Given the description of an element on the screen output the (x, y) to click on. 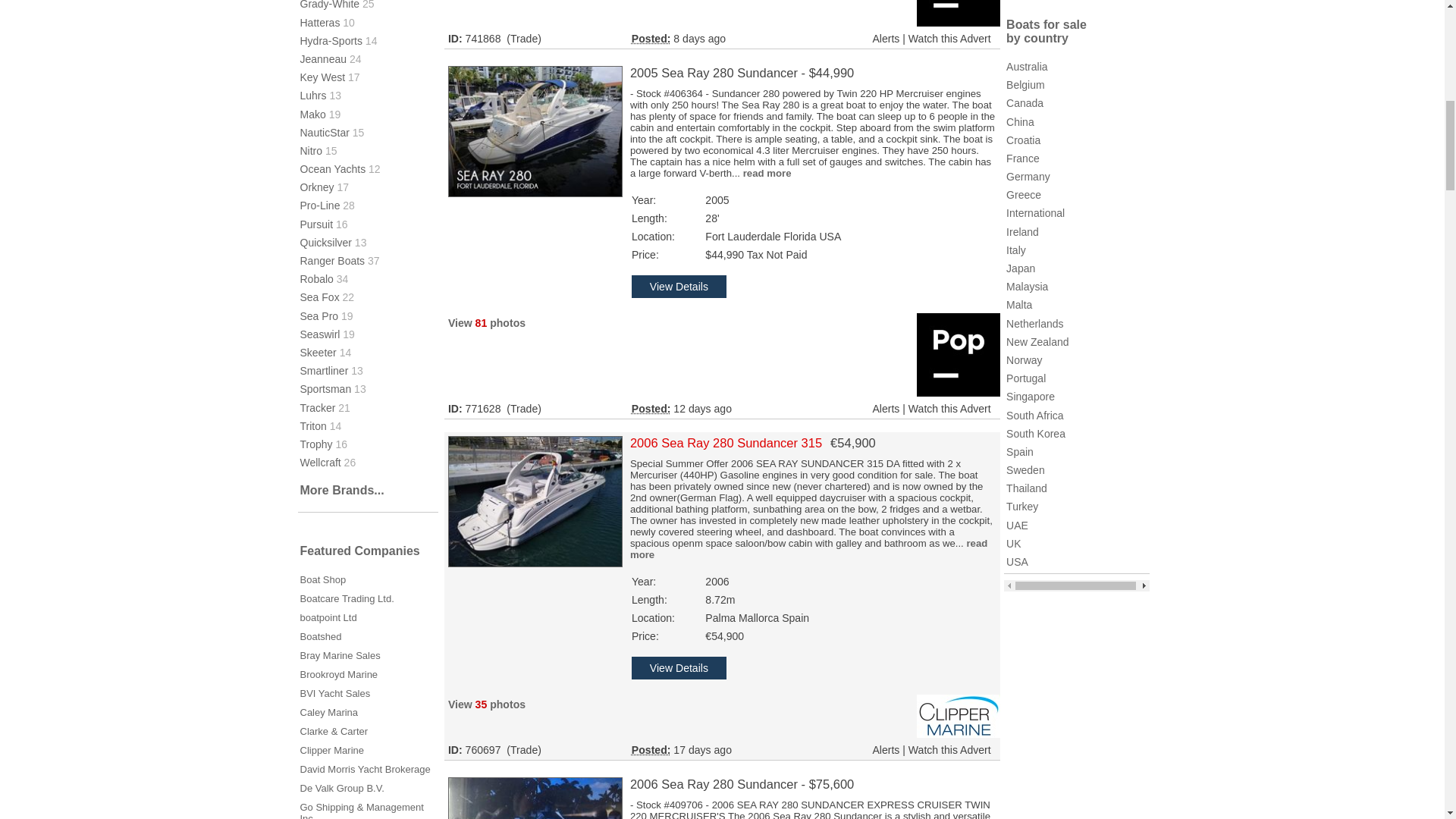
BVI Yacht Sales, British Virgin Islands (335, 693)
Caley Marina, UK (328, 712)
De Valk Group B.V., Netherlands (341, 787)
David Morris Yacht Brokerage, UK (364, 768)
Bray Marine Sales, UK (339, 655)
Boat Shop, UK (322, 579)
Boatshed, UK (320, 636)
Brookroyd Marine, UK (338, 674)
Clipper Marine, UK (332, 749)
Boatcare Trading Ltd., Malta (346, 598)
boatpoint Ltd, UK (327, 617)
